Given the description of an element on the screen output the (x, y) to click on. 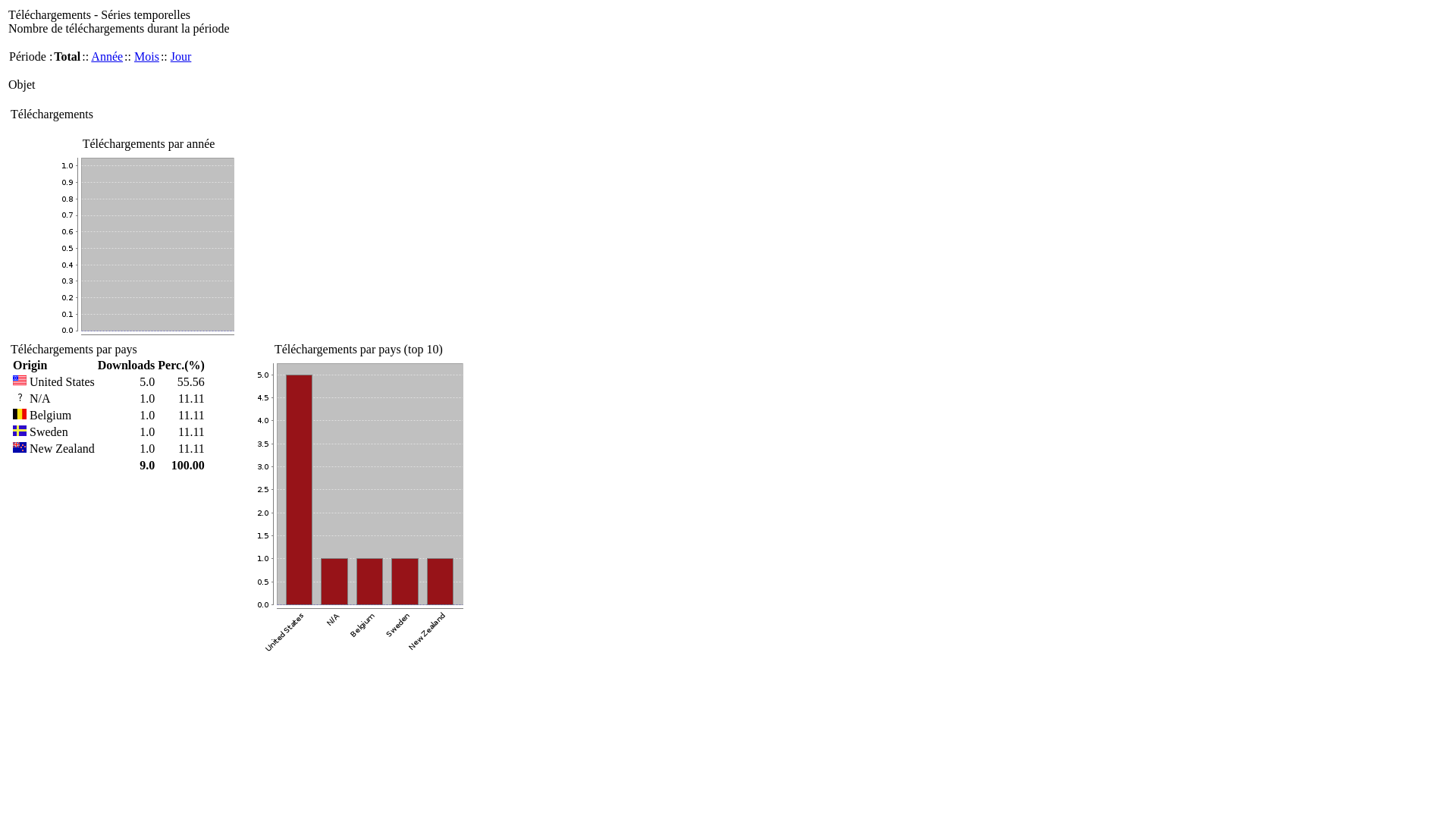
Jour Element type: text (180, 56)
Mois Element type: text (146, 56)
